Given the description of an element on the screen output the (x, y) to click on. 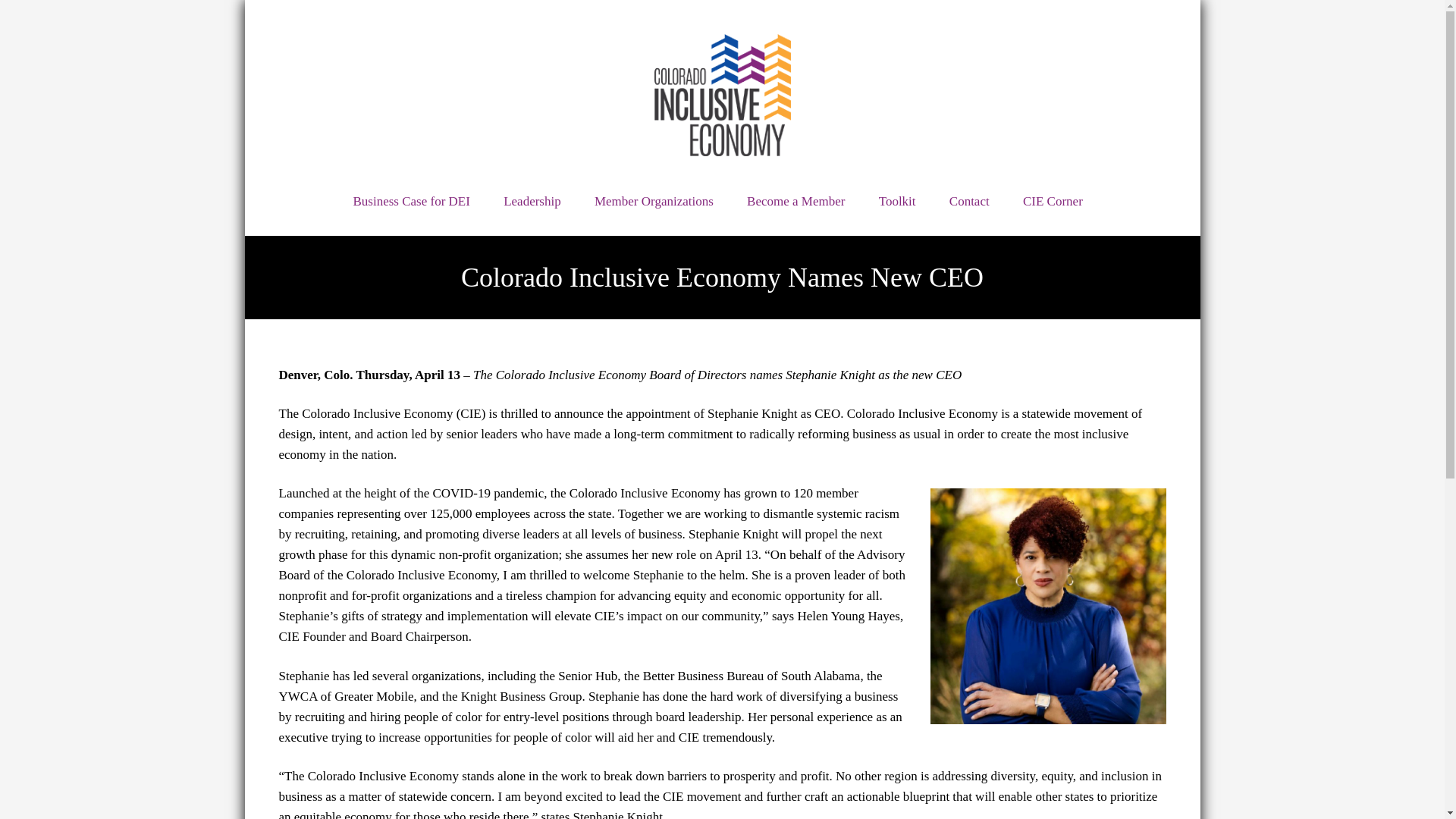
Donation Activity Popup (158, 776)
Business Case for DEI (410, 201)
CIE Corner (1052, 201)
Toolkit (897, 201)
Leadership (531, 201)
Contact (969, 201)
Member Organizations (654, 201)
Become a Member (796, 201)
Donate Button (957, 104)
